Given the description of an element on the screen output the (x, y) to click on. 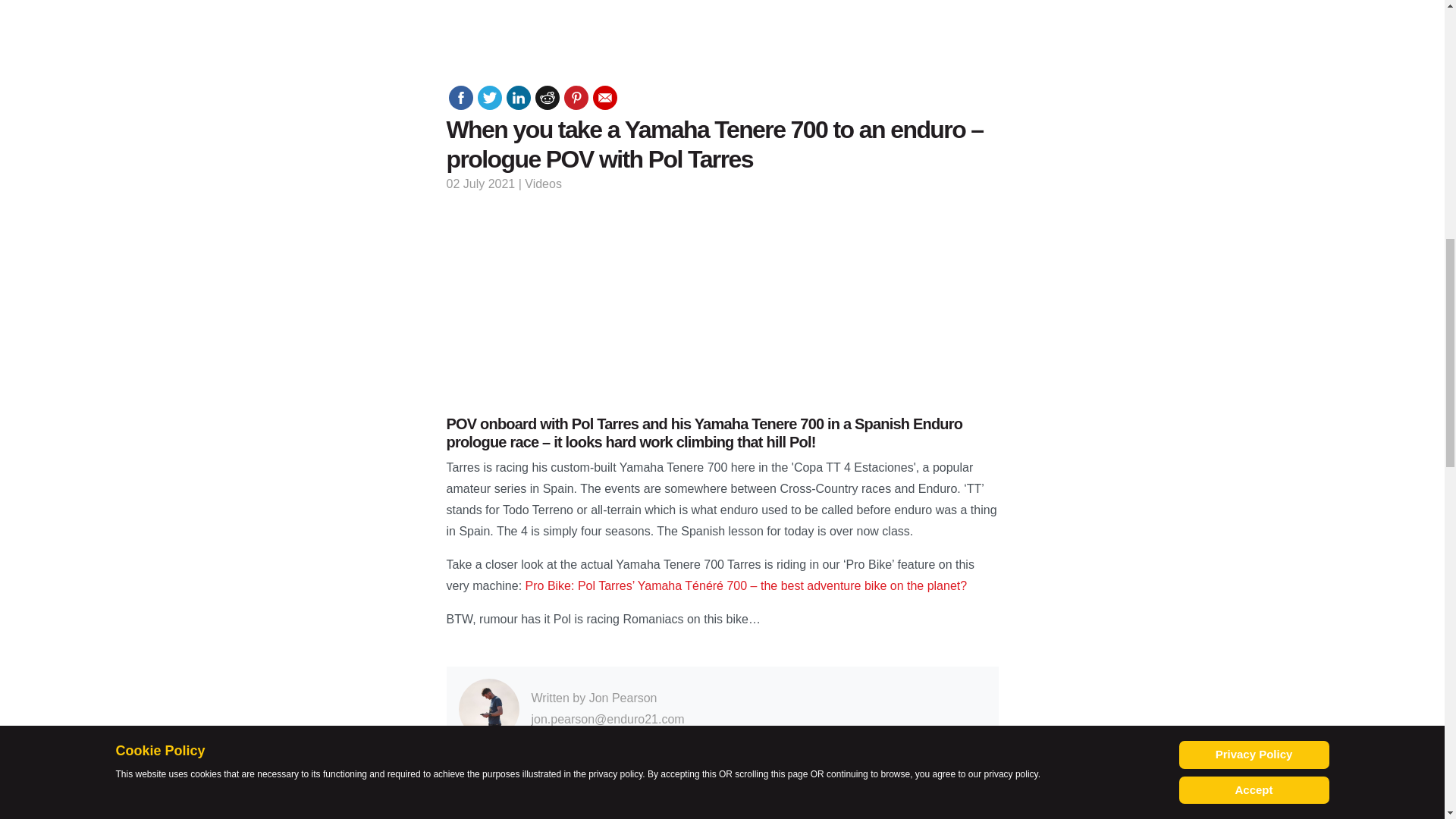
Share on LinkedIn (518, 97)
3rd party ad content (1279, 65)
3rd party ad content (164, 65)
Recommend this page (604, 97)
Share on Facebook (460, 97)
3rd party ad content (721, 301)
Share on Twitter (489, 97)
Share on Reddit (547, 97)
